Given the description of an element on the screen output the (x, y) to click on. 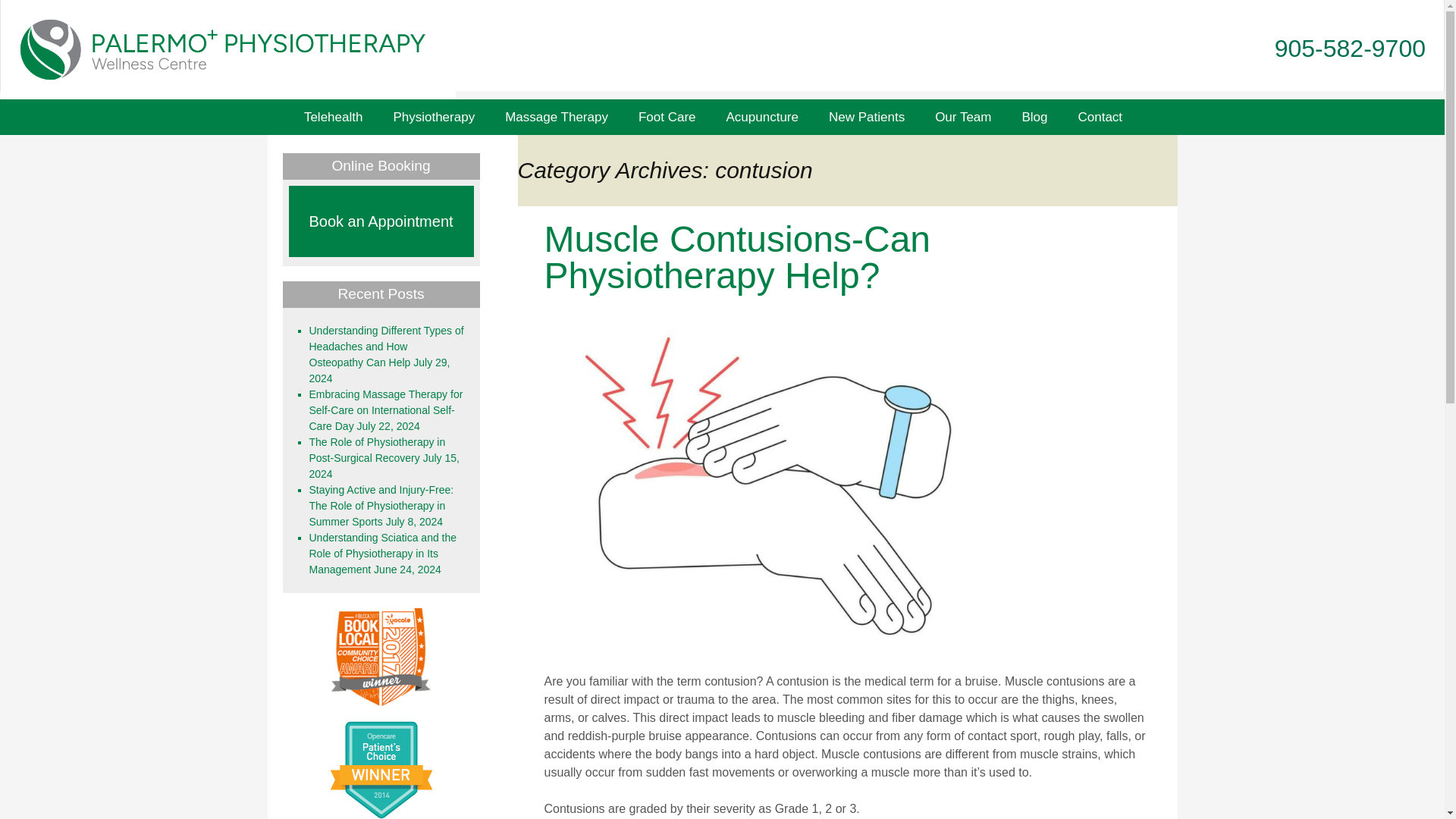
Muscle Contusions-Can Physiotherapy Help? (737, 257)
Physiotherapy (433, 117)
Physiotherapy (433, 117)
New Patients (866, 117)
905-582-9700 (1350, 48)
The Role of Physiotherapy in Post-Surgical Recovery (376, 449)
Telehealth (333, 117)
Our Team (963, 117)
Blog (1034, 117)
Massage Therapy (556, 117)
Foot Care (667, 117)
Extended Health Insurance (698, 159)
Telehealth (333, 117)
